Given the description of an element on the screen output the (x, y) to click on. 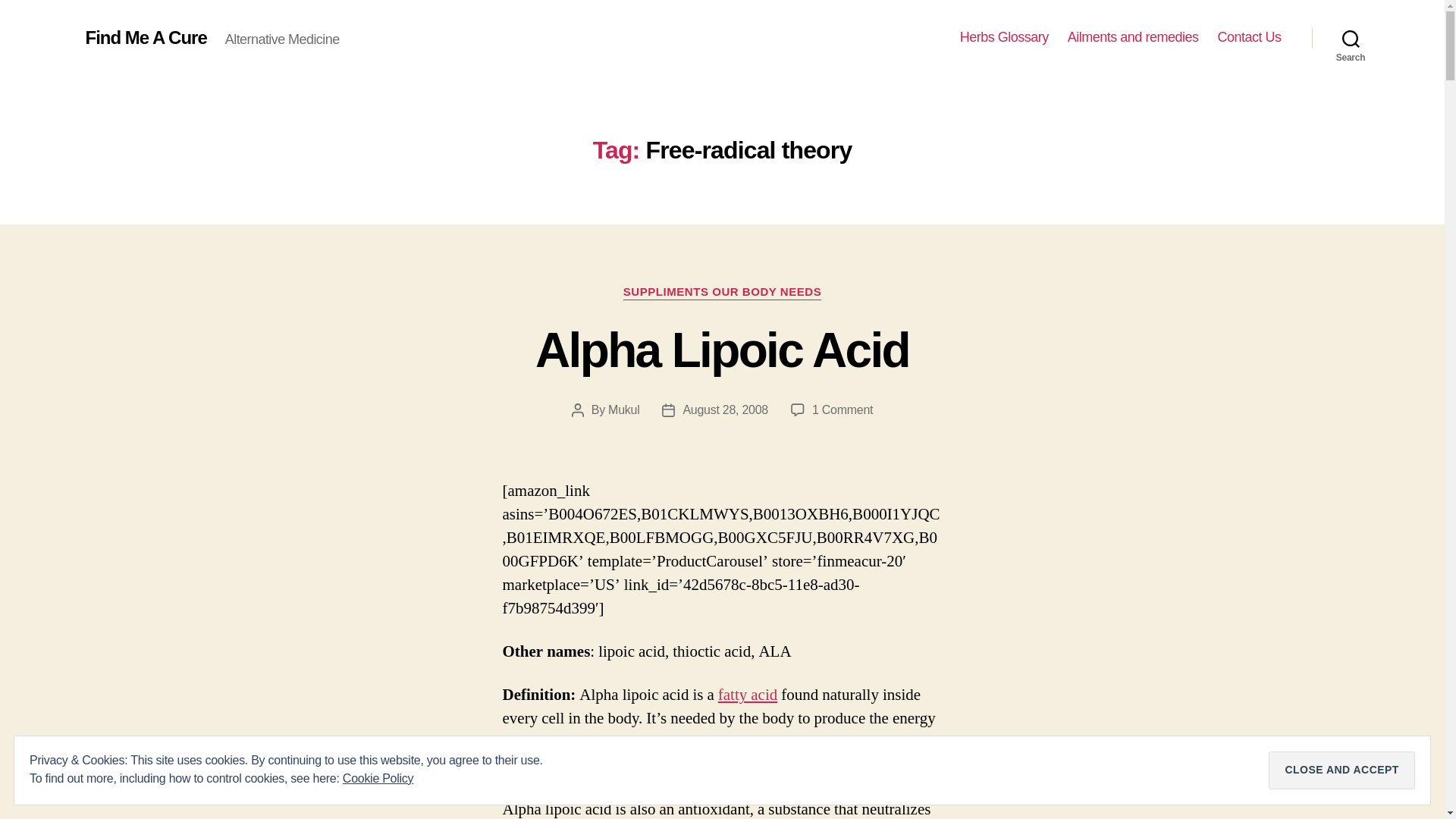
Blood sugar (545, 765)
Close and accept (1341, 770)
Alpha Lipoic Acid (721, 349)
fatty acid (747, 694)
Herbs Glossary (1003, 37)
Find Me A Cure (145, 37)
Contact Us (1249, 37)
SUPPLIMENTS OUR BODY NEEDS (722, 292)
Fatty acid (747, 694)
blood sugar (545, 765)
Mukul (623, 409)
Ailments and remedies (842, 409)
August 28, 2008 (1132, 37)
Search (725, 409)
